Given the description of an element on the screen output the (x, y) to click on. 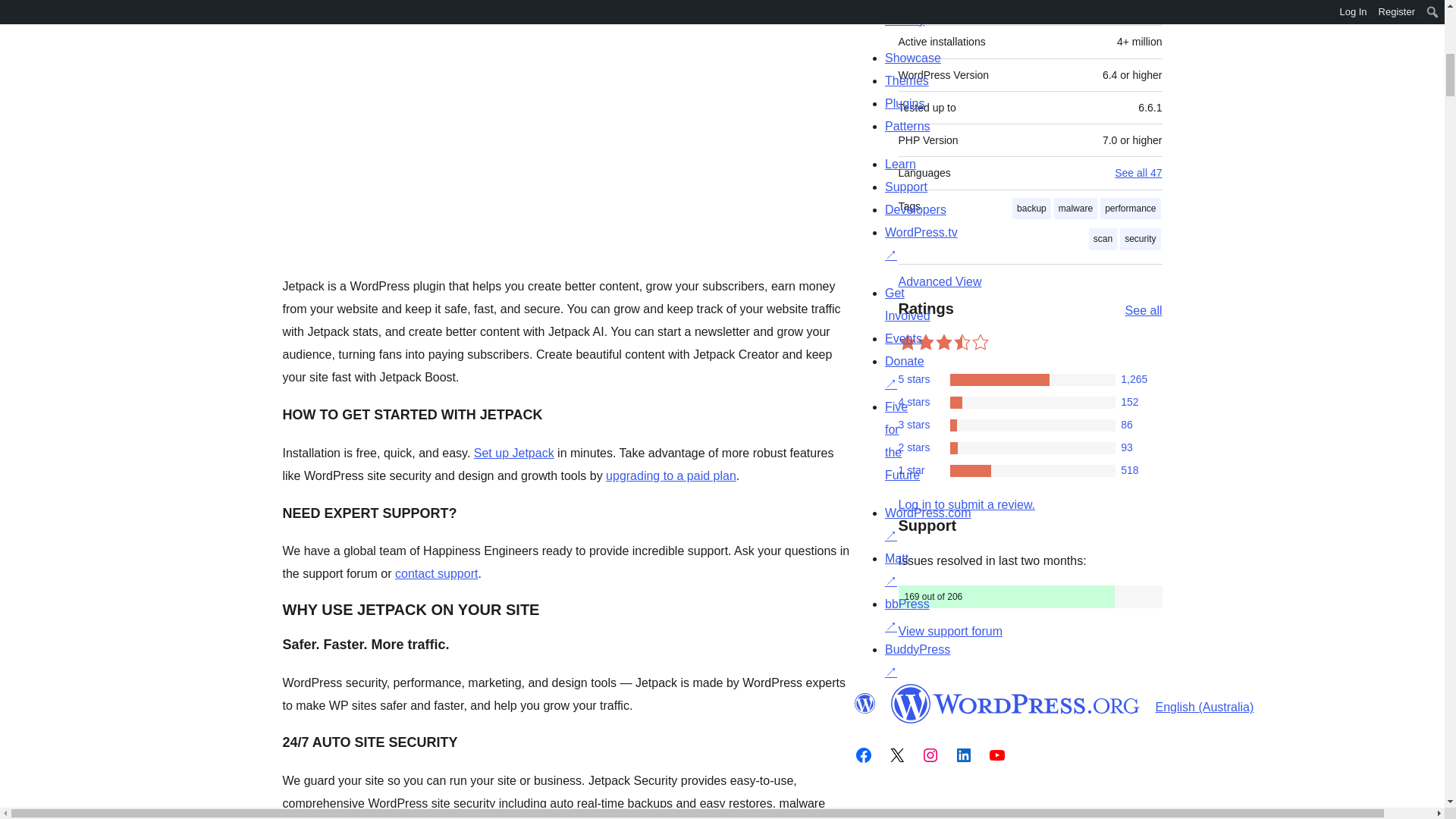
upgrading to a paid plan (670, 475)
contact support (435, 573)
Log in to WordPress.org (966, 504)
Set up Jetpack (514, 452)
